Given the description of an element on the screen output the (x, y) to click on. 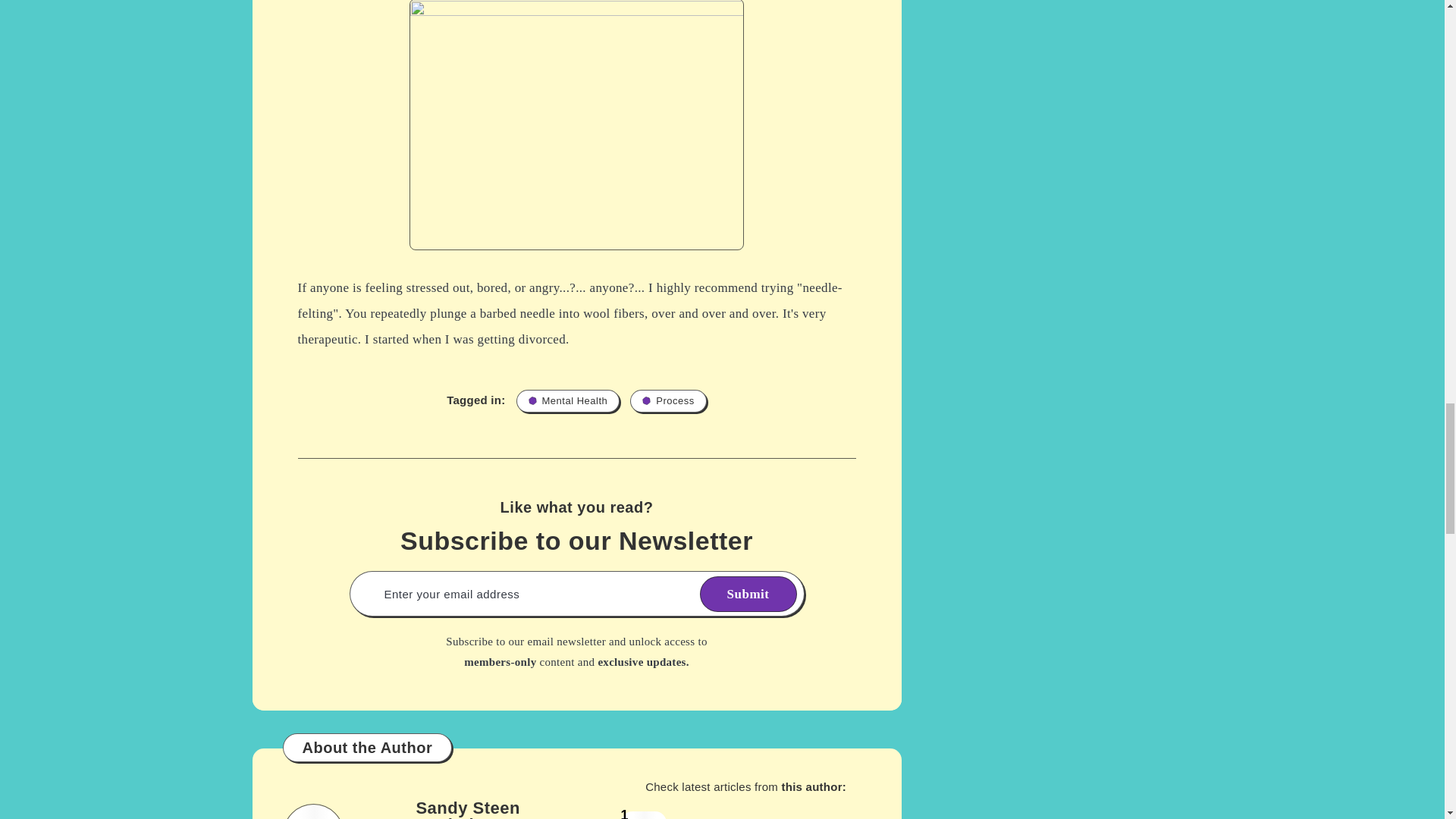
Sandy Steen Bartholomew (467, 808)
Process (668, 400)
Submit (748, 593)
Mental Health (568, 400)
